Given the description of an element on the screen output the (x, y) to click on. 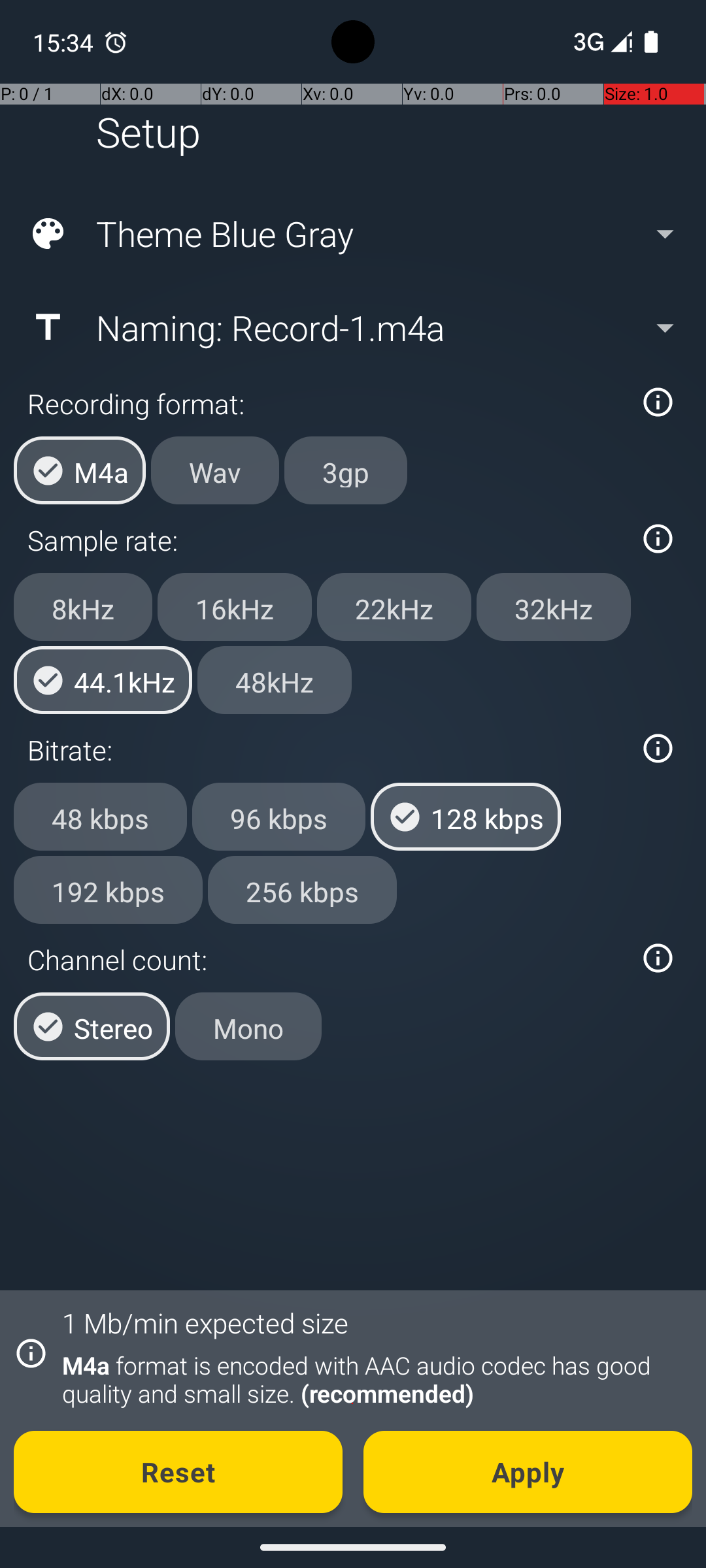
Clock notification: Missed alarm Element type: android.widget.ImageView (115, 41)
